Given the description of an element on the screen output the (x, y) to click on. 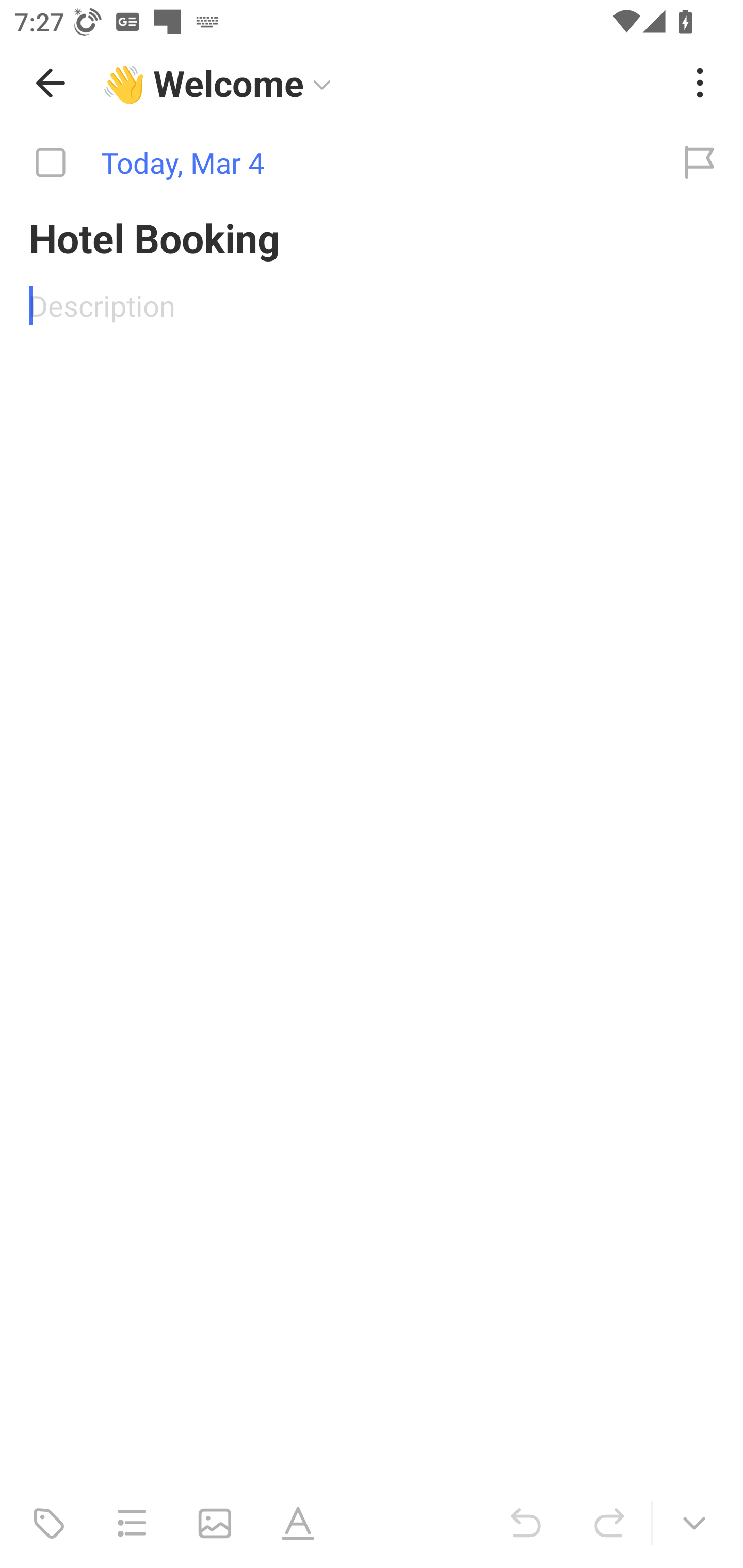
👋 Welcome (384, 82)
Today, Mar 4  (328, 163)
Hotel Booking (371, 237)
Description (371, 304)
